Given the description of an element on the screen output the (x, y) to click on. 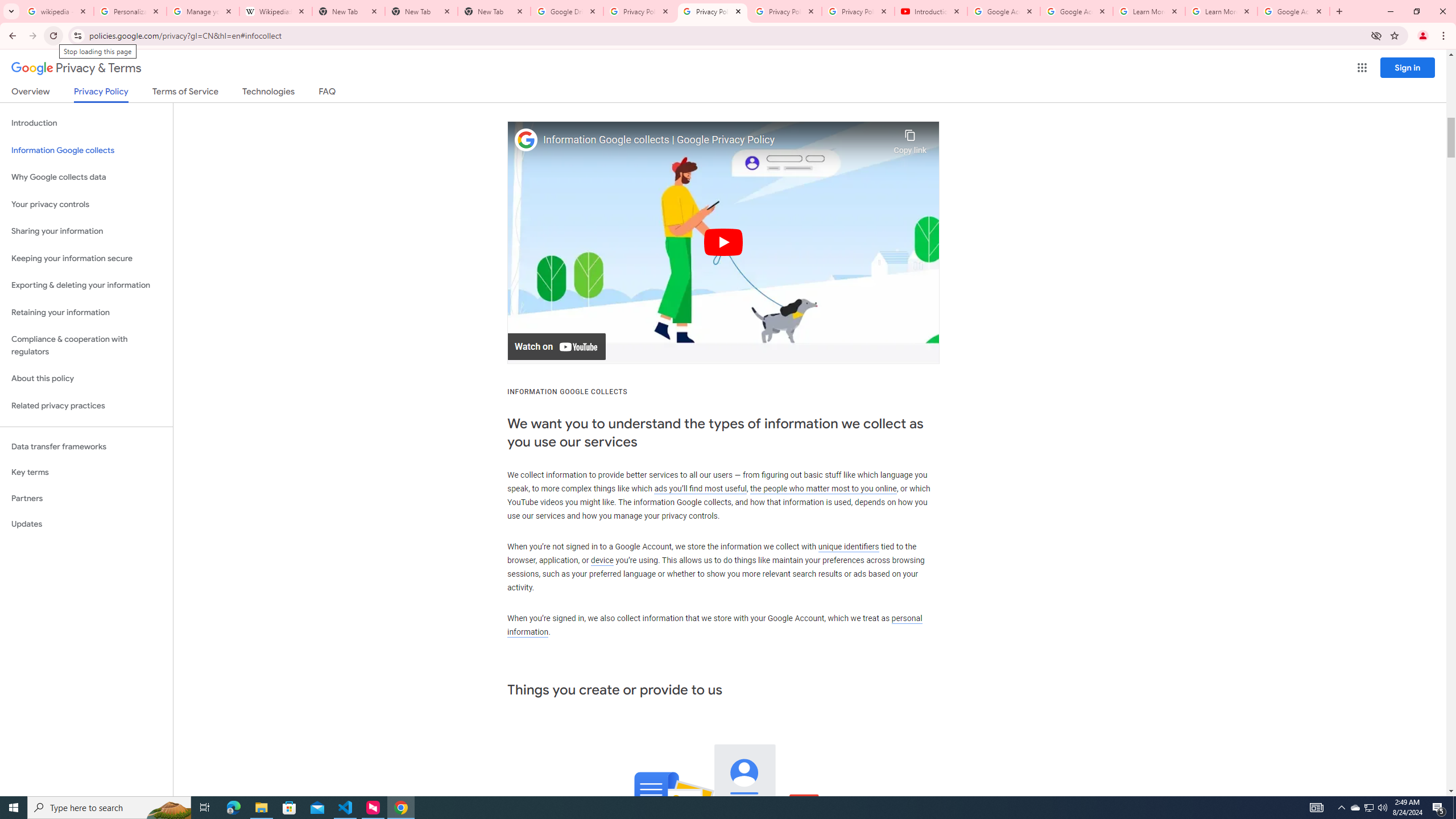
Privacy & Terms (76, 68)
Photo image of Google (526, 139)
Google Account (1293, 11)
Data transfer frameworks (86, 446)
